Given the description of an element on the screen output the (x, y) to click on. 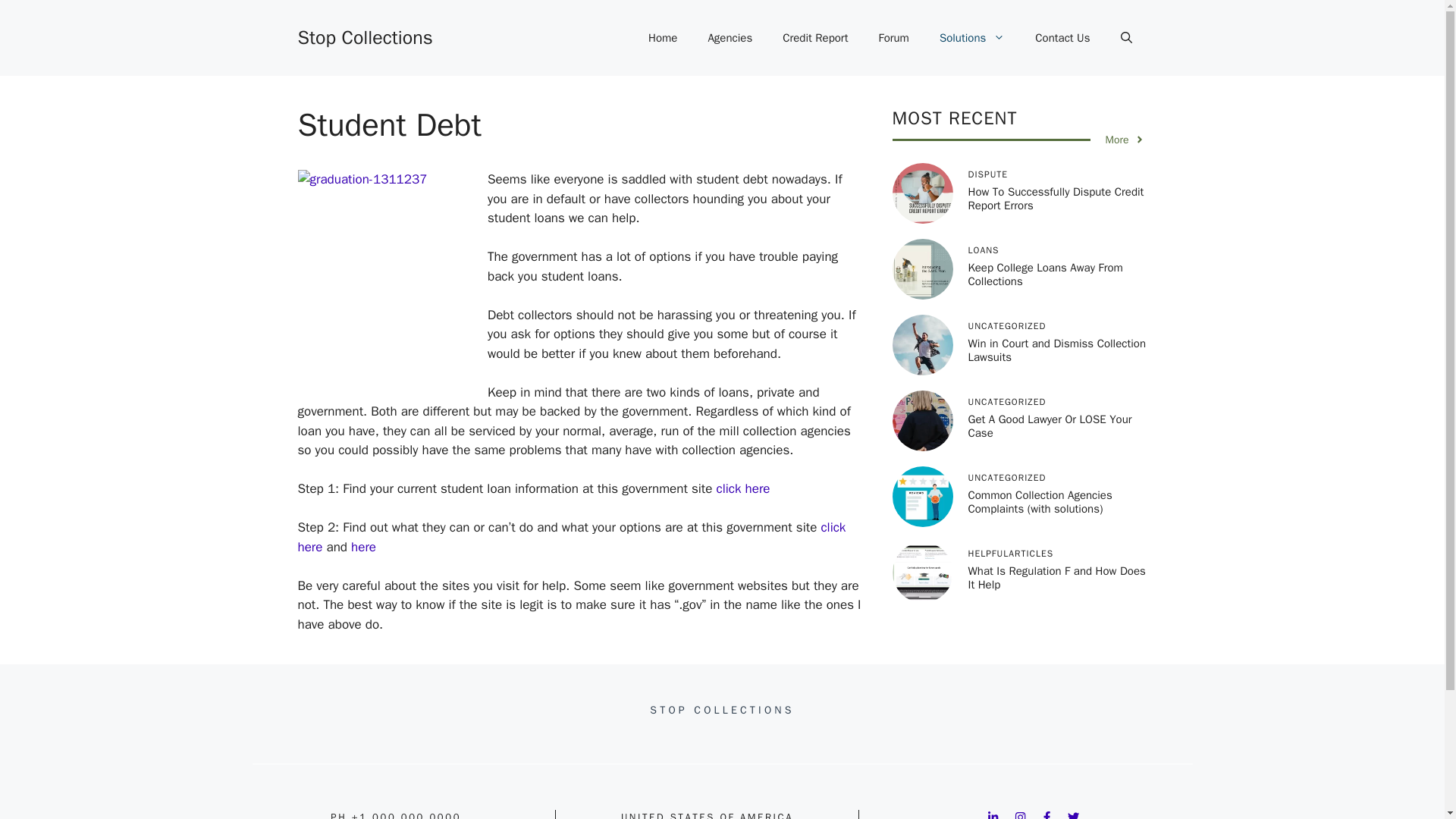
Home (663, 37)
Credit Report (815, 37)
Win in Court and Dismiss Collection Lawsuits (1056, 349)
Contact Us (1062, 37)
here (362, 546)
Keep College Loans Away From Collections (1045, 274)
click here (571, 537)
Get A Good Lawyer Or LOSE Your Case (1049, 425)
What Is Regulation F and How Does It Help (1056, 577)
Solutions (972, 37)
Forum (893, 37)
click here (743, 488)
More (1124, 139)
How To Successfully Dispute Credit Report Errors (1055, 198)
Remove From Credit Report (815, 37)
